Given the description of an element on the screen output the (x, y) to click on. 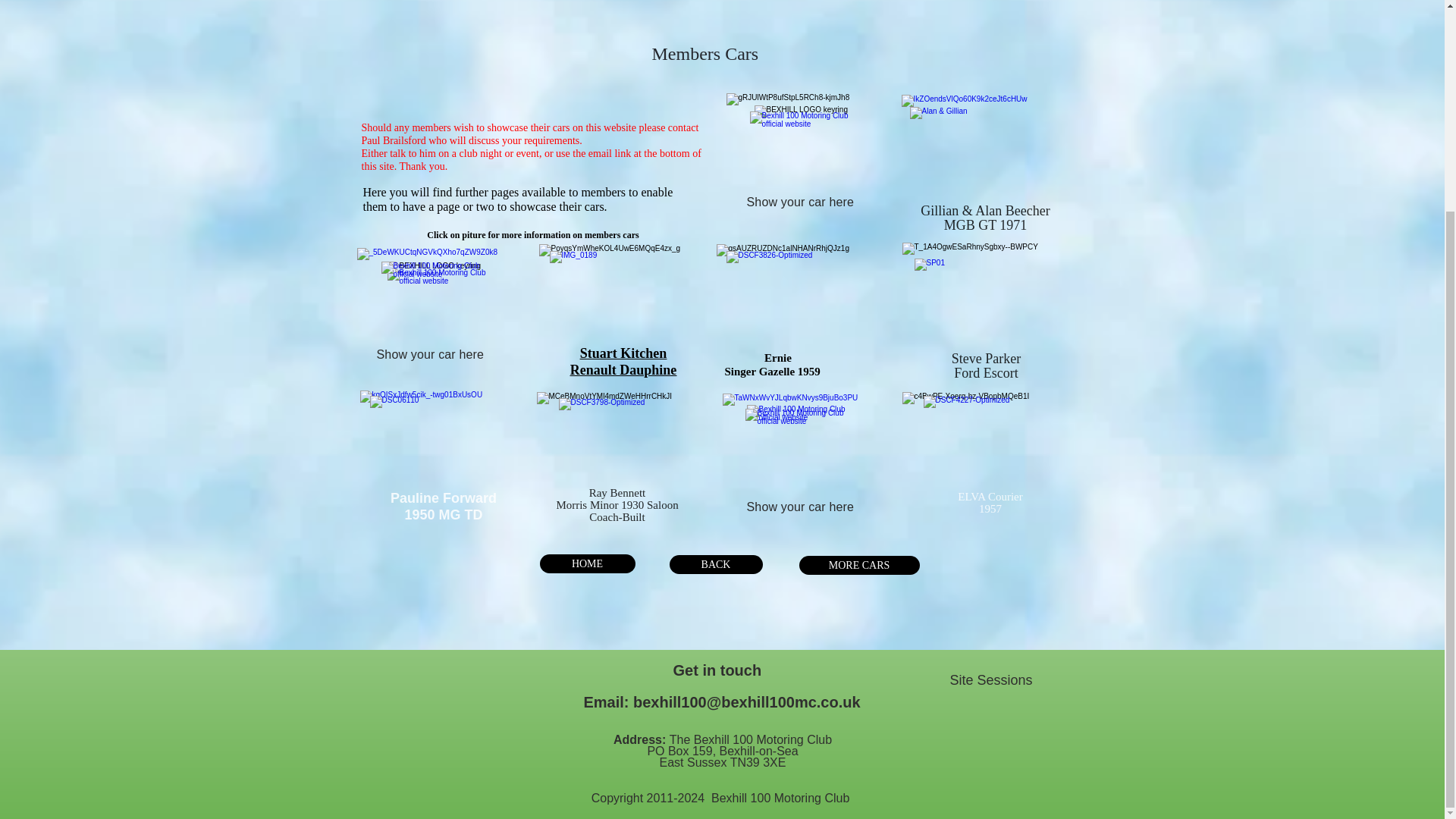
HOME (587, 563)
Stuart Kitchen (622, 353)
Renault Dauphine (623, 369)
BACK (714, 564)
MORE CARS (859, 565)
